Given the description of an element on the screen output the (x, y) to click on. 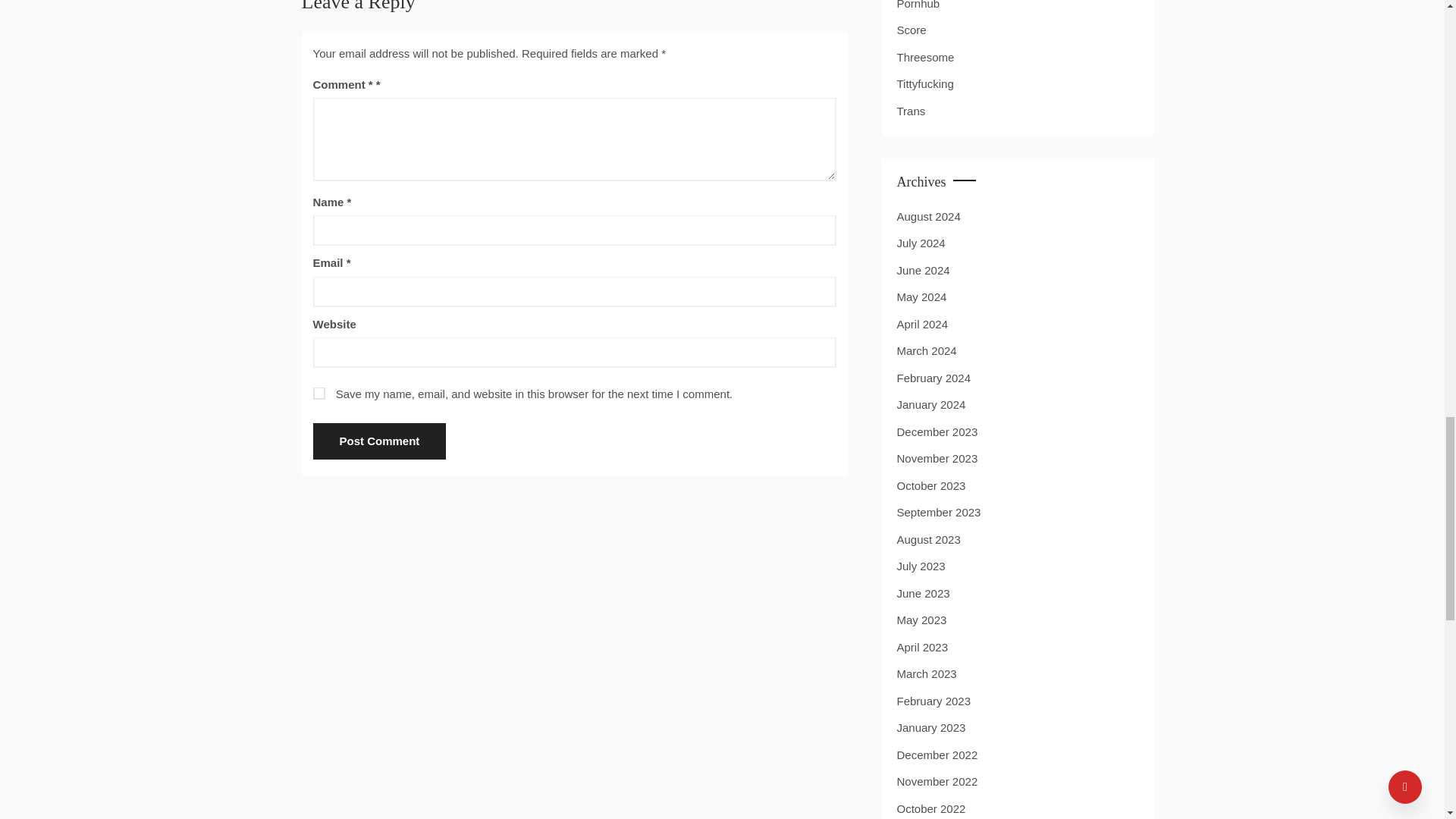
Score (911, 30)
yes (318, 393)
Post Comment (379, 441)
Pornhub (917, 6)
July 2024 (920, 242)
Trans (910, 111)
Post Comment (379, 441)
Tittyfucking (924, 84)
August 2024 (927, 215)
Threesome (924, 57)
